Given the description of an element on the screen output the (x, y) to click on. 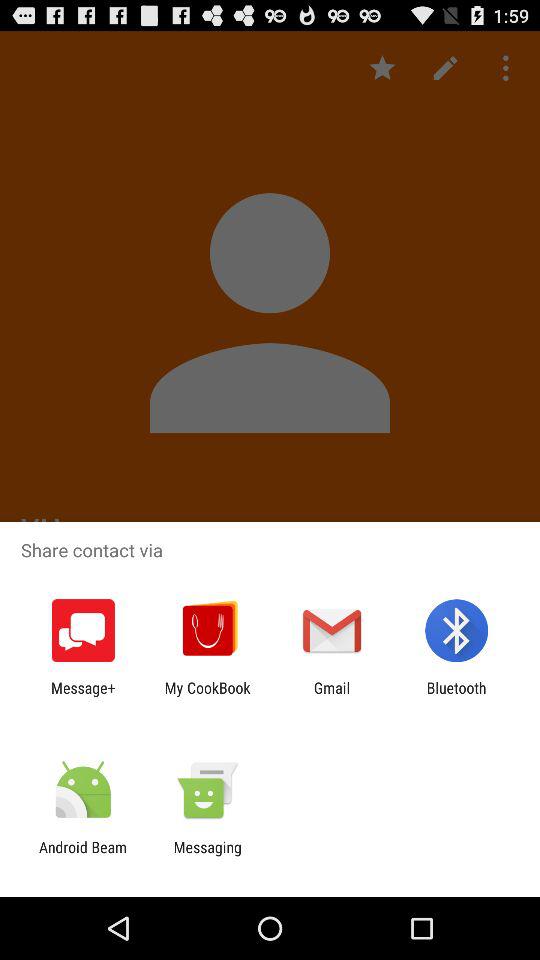
turn on the android beam icon (83, 856)
